Given the description of an element on the screen output the (x, y) to click on. 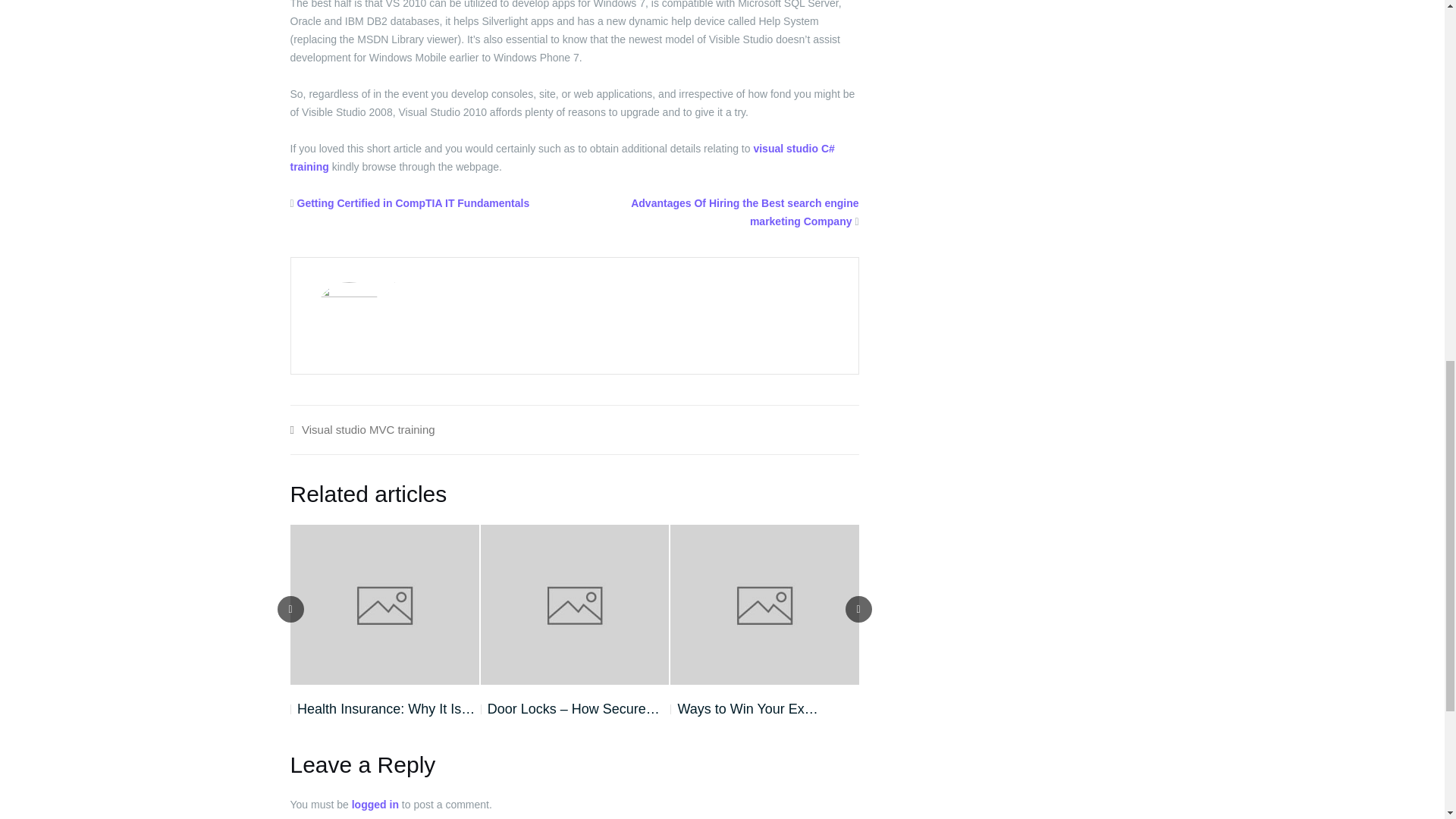
Visual studio MVC training (368, 429)
Getting Certified in CompTIA IT Fundamentals (413, 203)
